Given the description of an element on the screen output the (x, y) to click on. 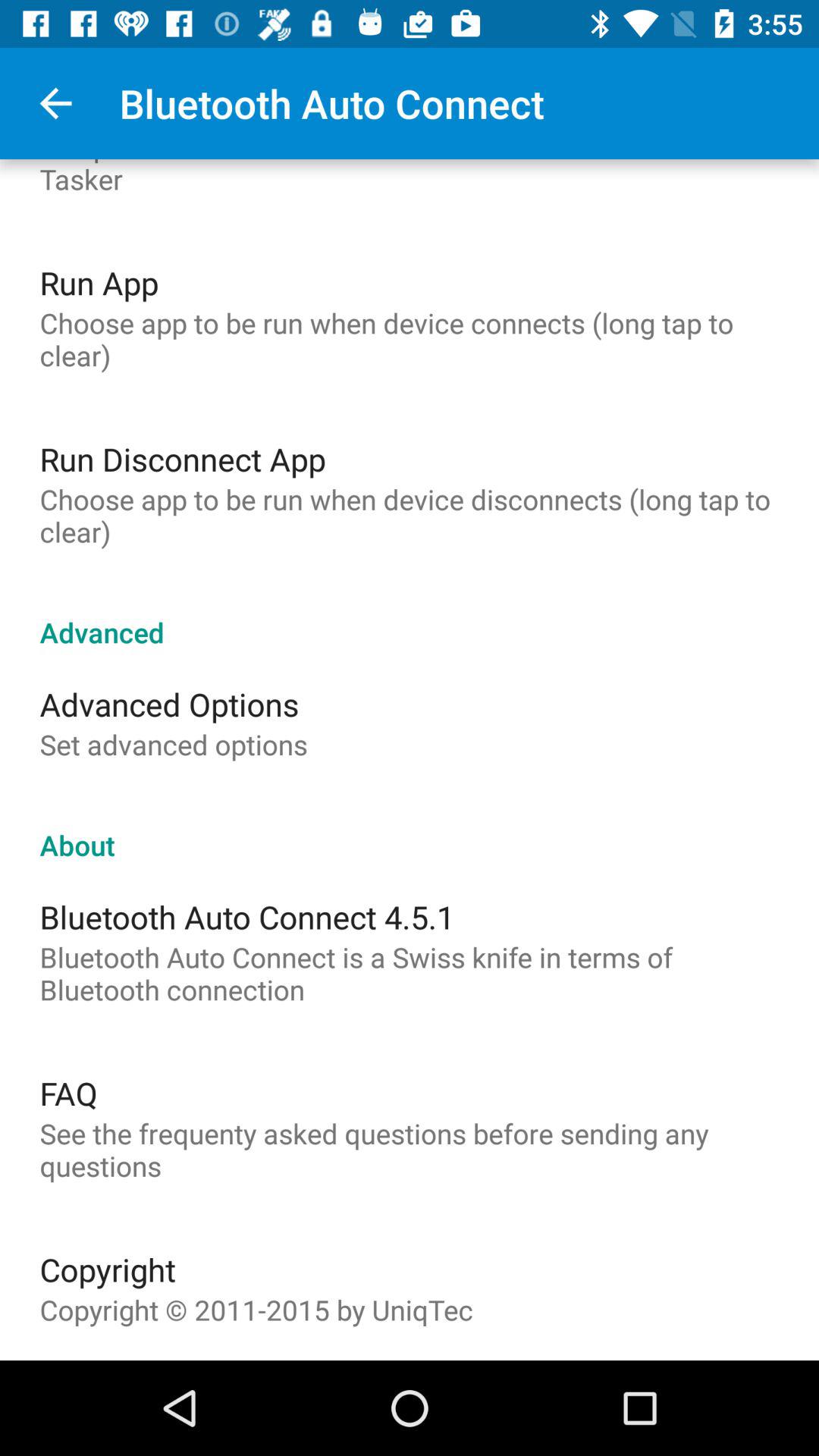
open icon below copyright icon (256, 1309)
